Given the description of an element on the screen output the (x, y) to click on. 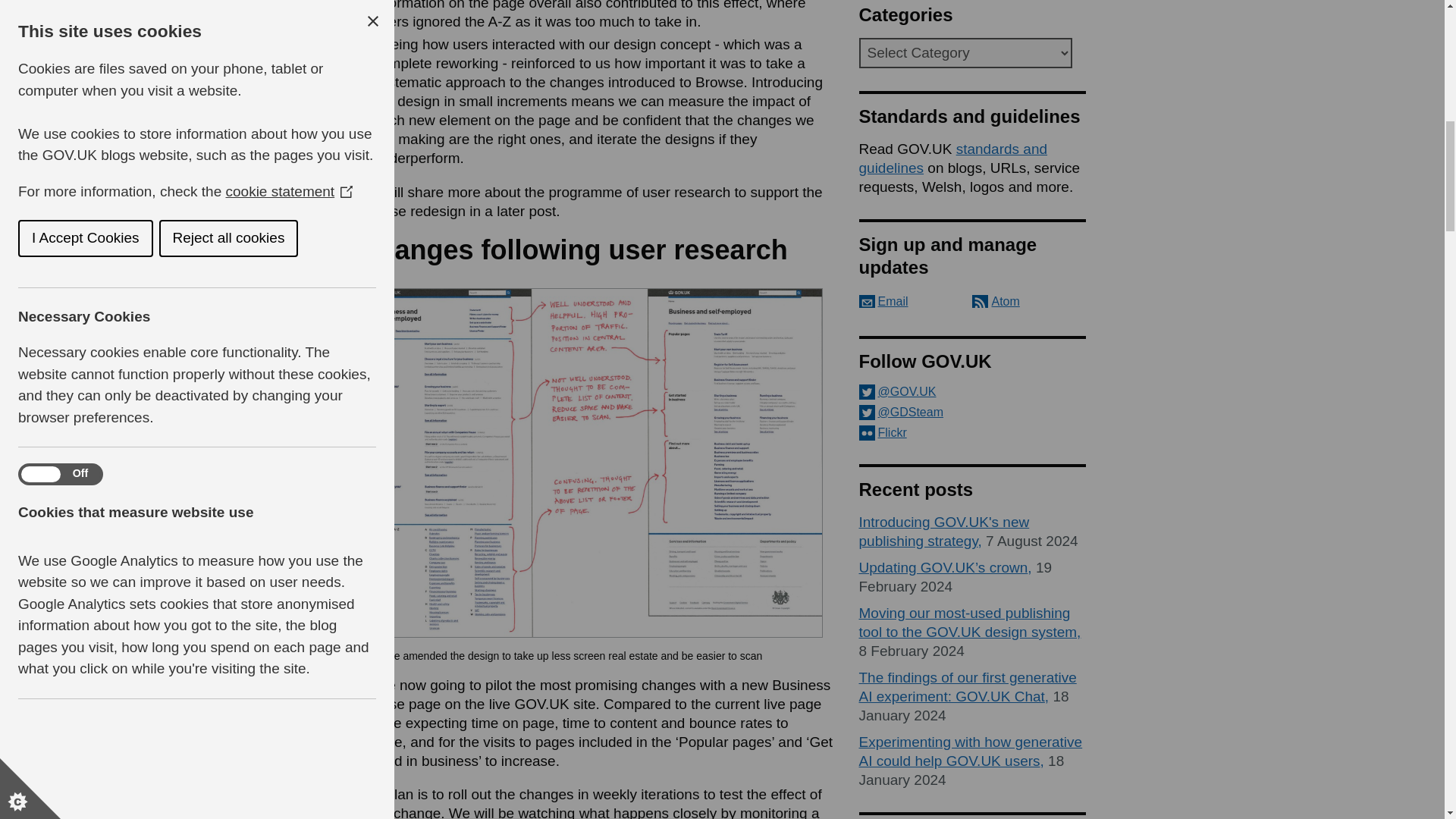
Atom (995, 300)
Email (883, 300)
standards and guidelines (952, 158)
